Given the description of an element on the screen output the (x, y) to click on. 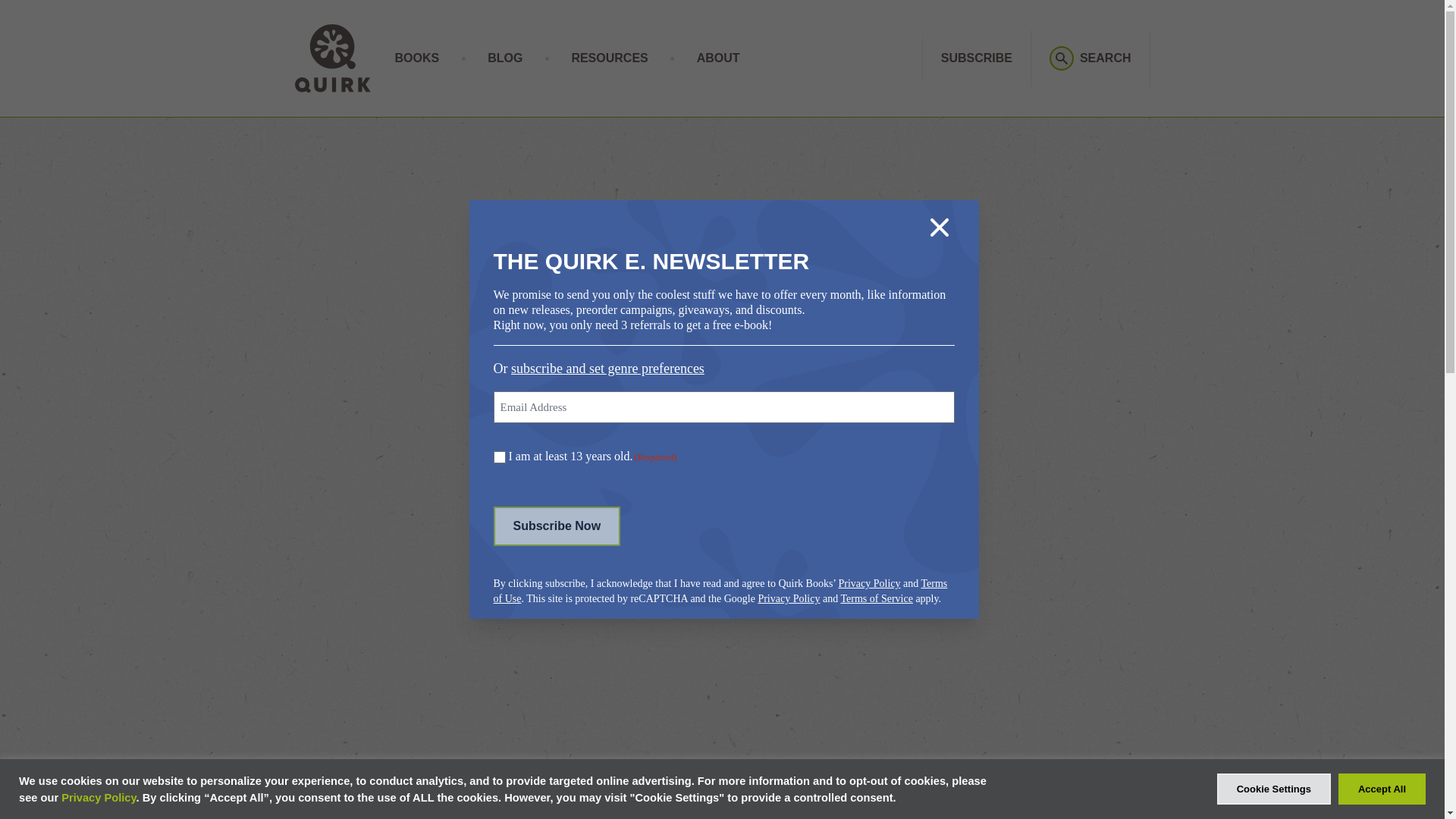
Privacy Policy (868, 583)
1 (499, 457)
RESOURCES (608, 57)
BLOG (504, 57)
SEARCH (1090, 58)
SUBSCRIBE (975, 57)
subscribe and set genre preferences (607, 368)
BOOKS (416, 57)
ABOUT (718, 57)
Subscribe Now (556, 526)
